Given the description of an element on the screen output the (x, y) to click on. 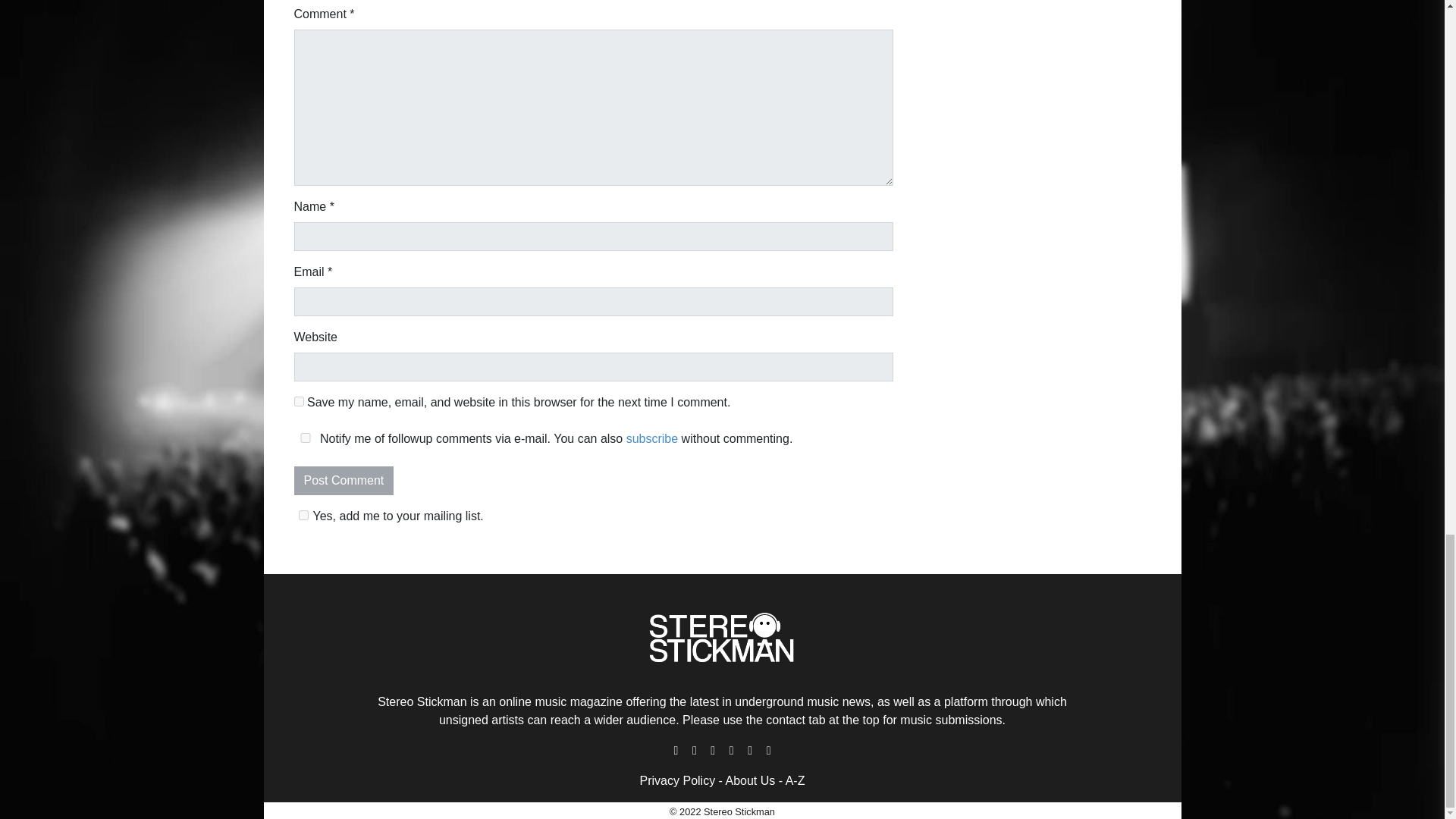
yes (299, 401)
Post Comment (344, 480)
Post Comment (344, 480)
yes (305, 438)
1 (303, 515)
subscribe (652, 438)
